Given the description of an element on the screen output the (x, y) to click on. 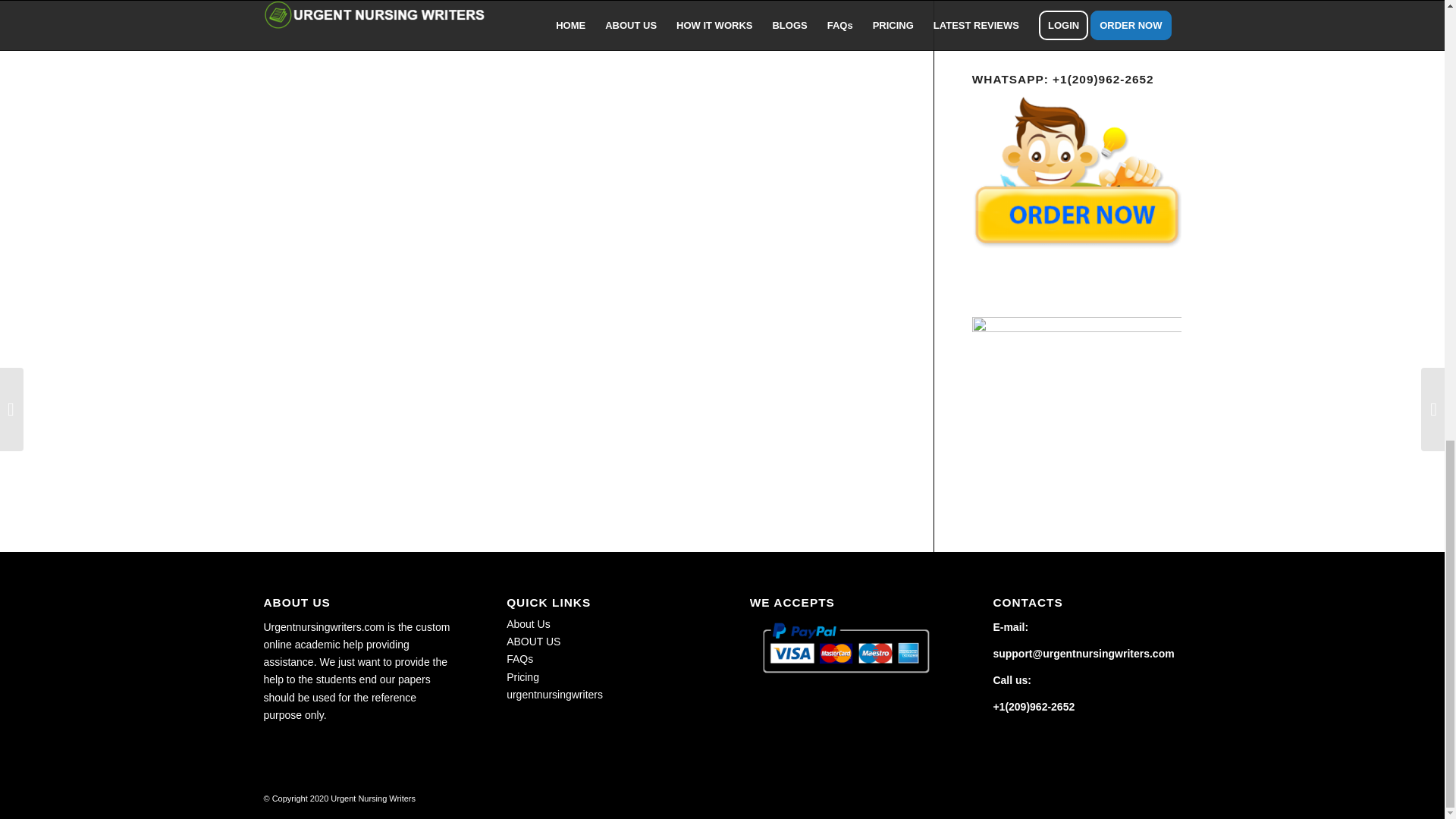
ABOUT US (533, 641)
About Us (528, 623)
urgentnursingwriters (554, 694)
FAQs (519, 658)
Pricing (522, 676)
